Given the description of an element on the screen output the (x, y) to click on. 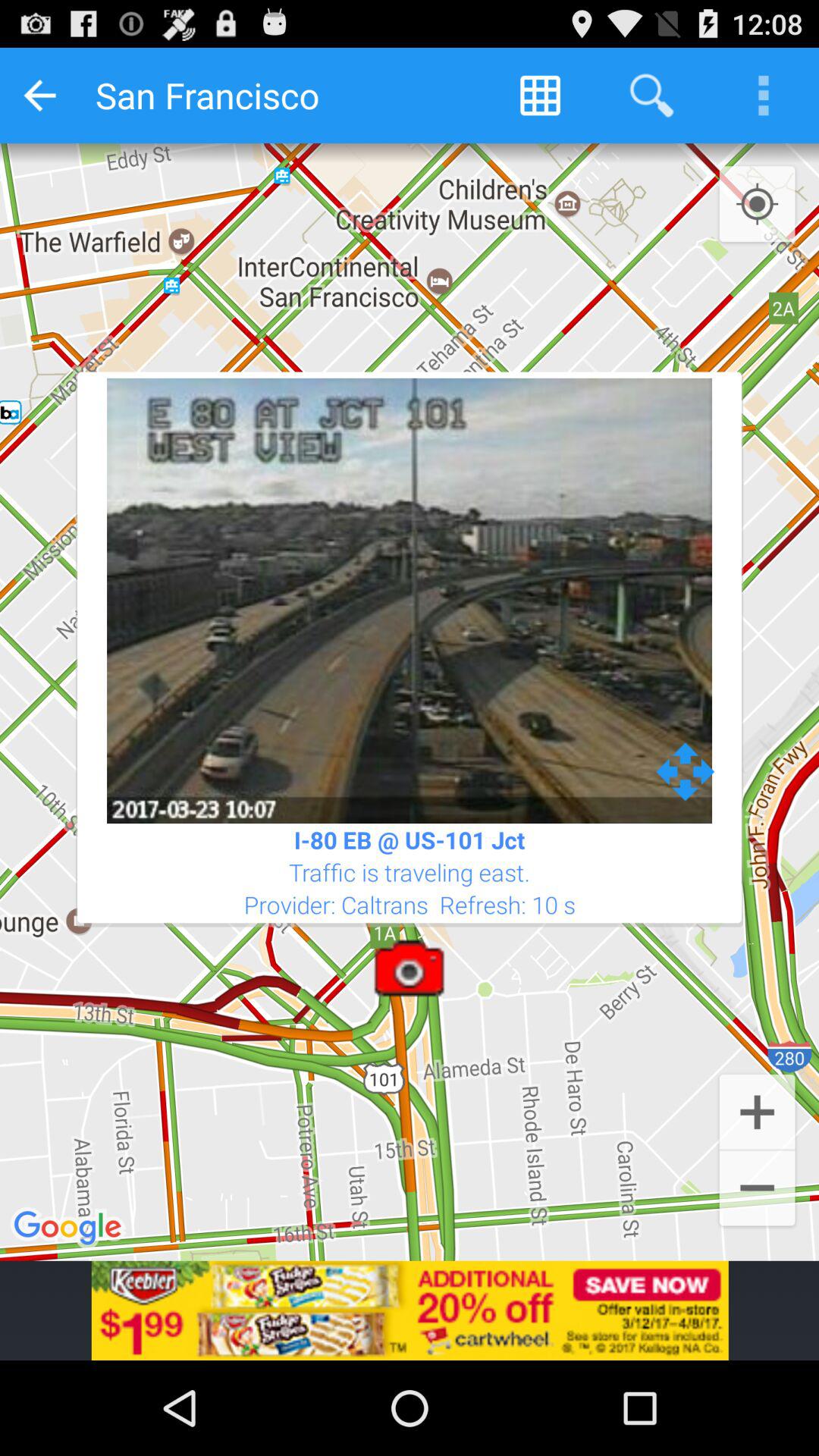
target advertisement for keebler cookies (409, 1310)
